Given the description of an element on the screen output the (x, y) to click on. 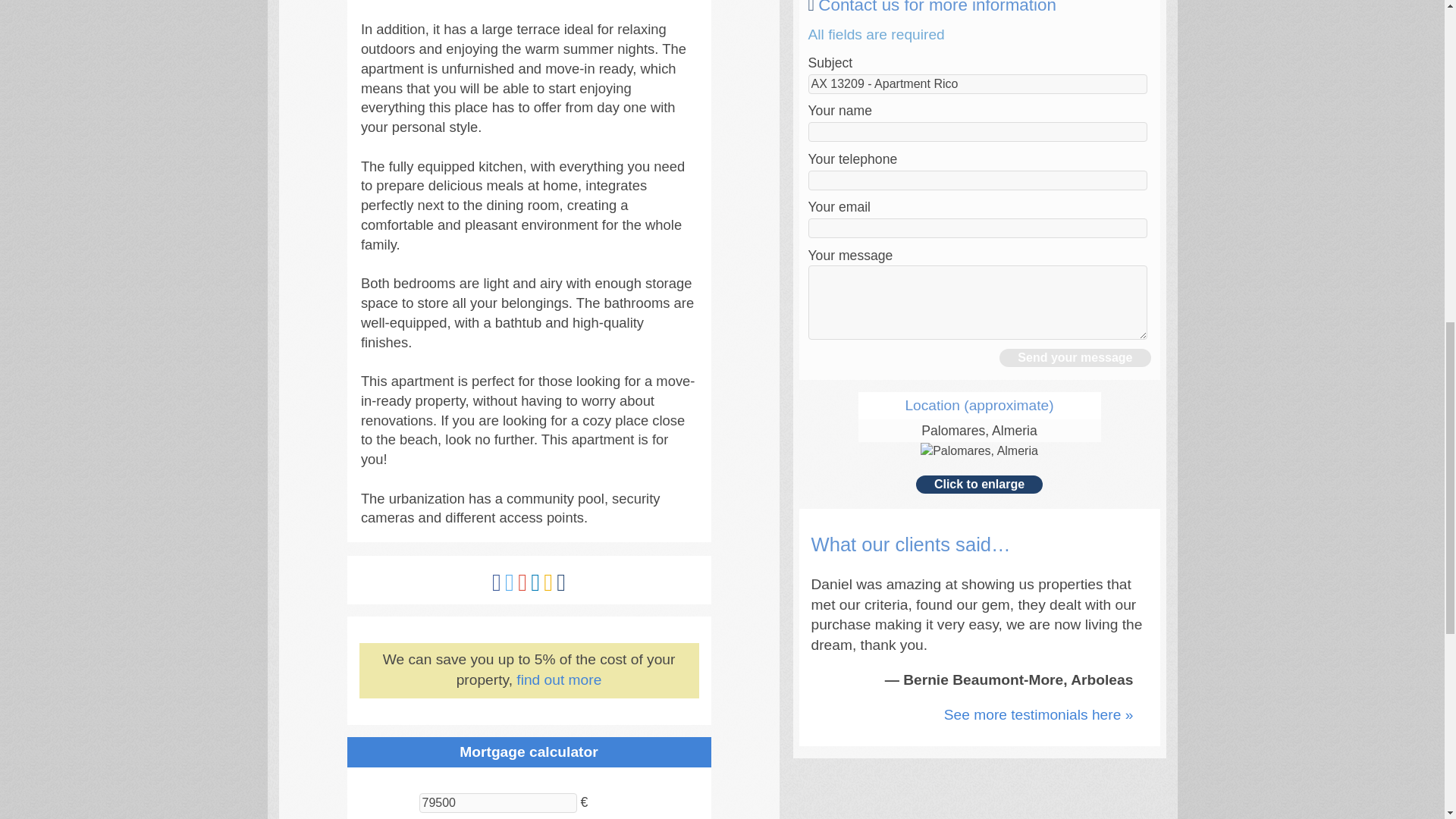
AX 13209 - Apartment Rico (977, 84)
Send your message (1074, 357)
Send your message (1074, 357)
find out more (558, 679)
Click to enlarge (978, 484)
79500 (497, 803)
